Given the description of an element on the screen output the (x, y) to click on. 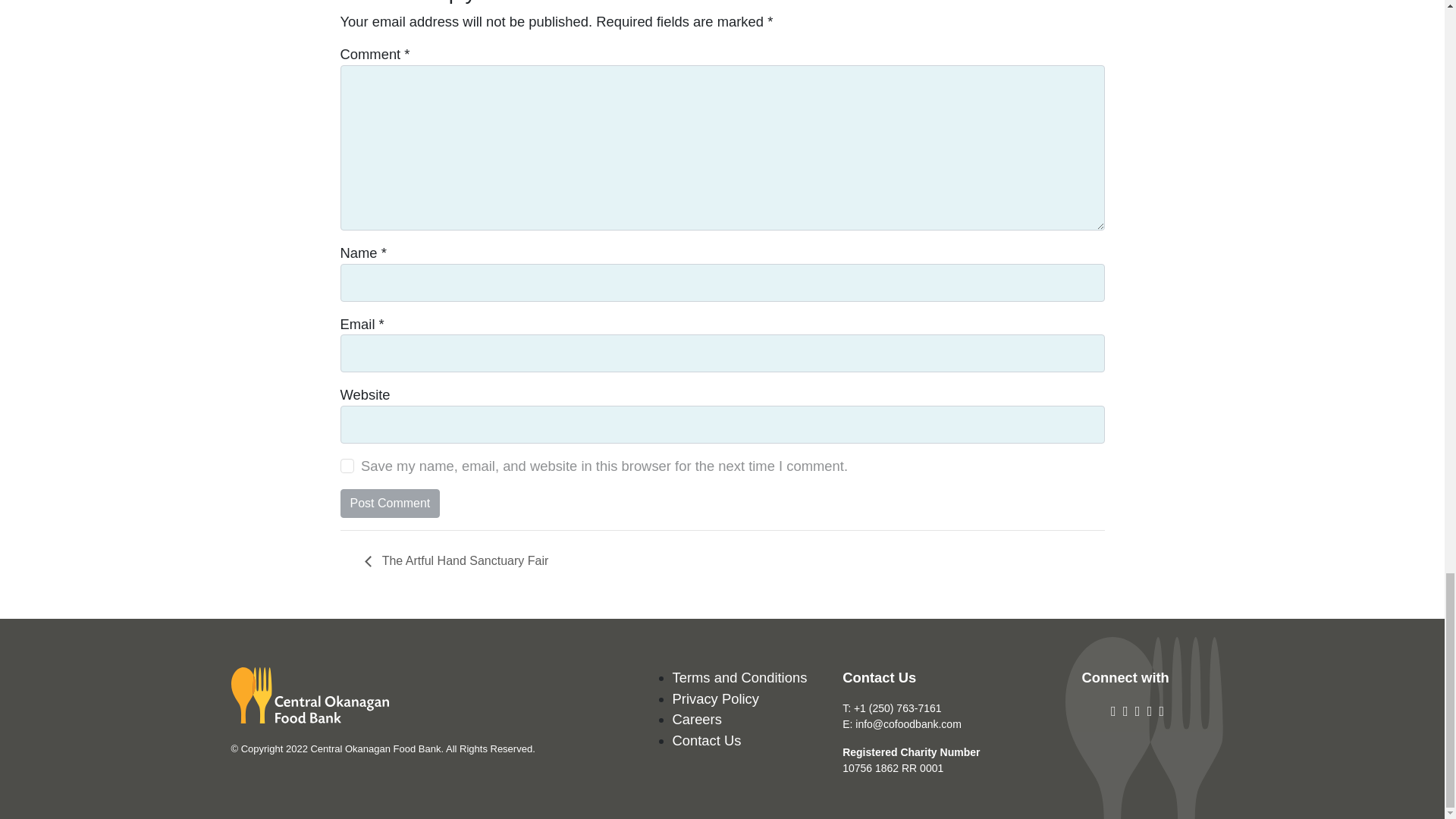
Post Comment (389, 502)
yes (346, 465)
